Given the description of an element on the screen output the (x, y) to click on. 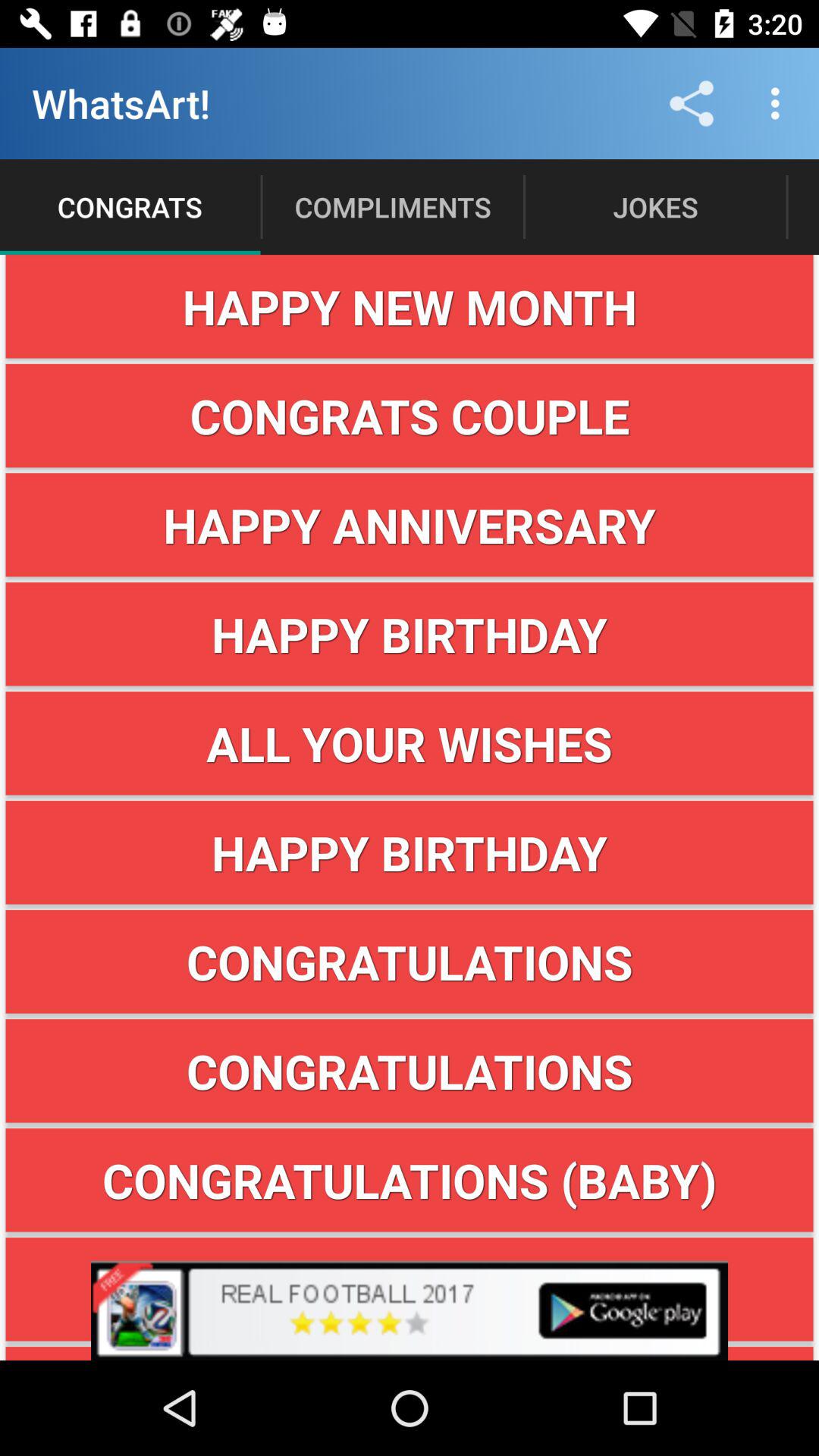
turn off the congrats couple item (409, 415)
